Given the description of an element on the screen output the (x, y) to click on. 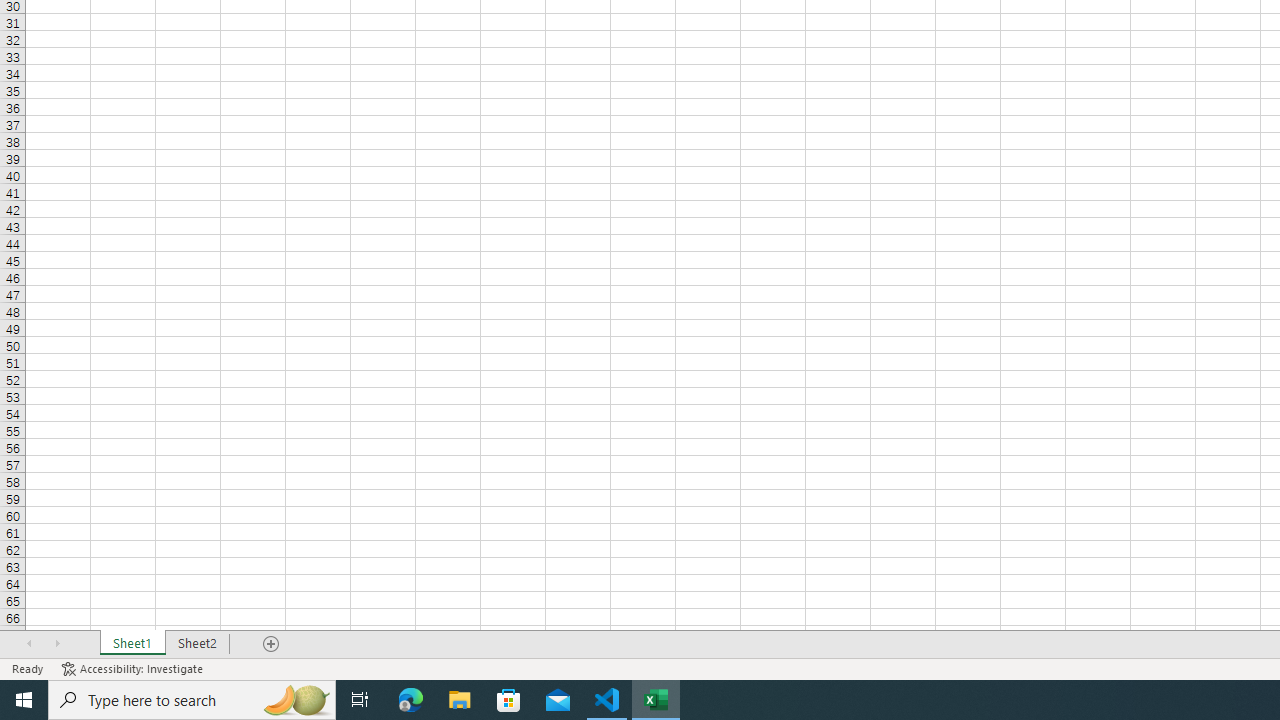
Sheet2 (197, 644)
Accessibility Checker Accessibility: Investigate (134, 668)
